Given the description of an element on the screen output the (x, y) to click on. 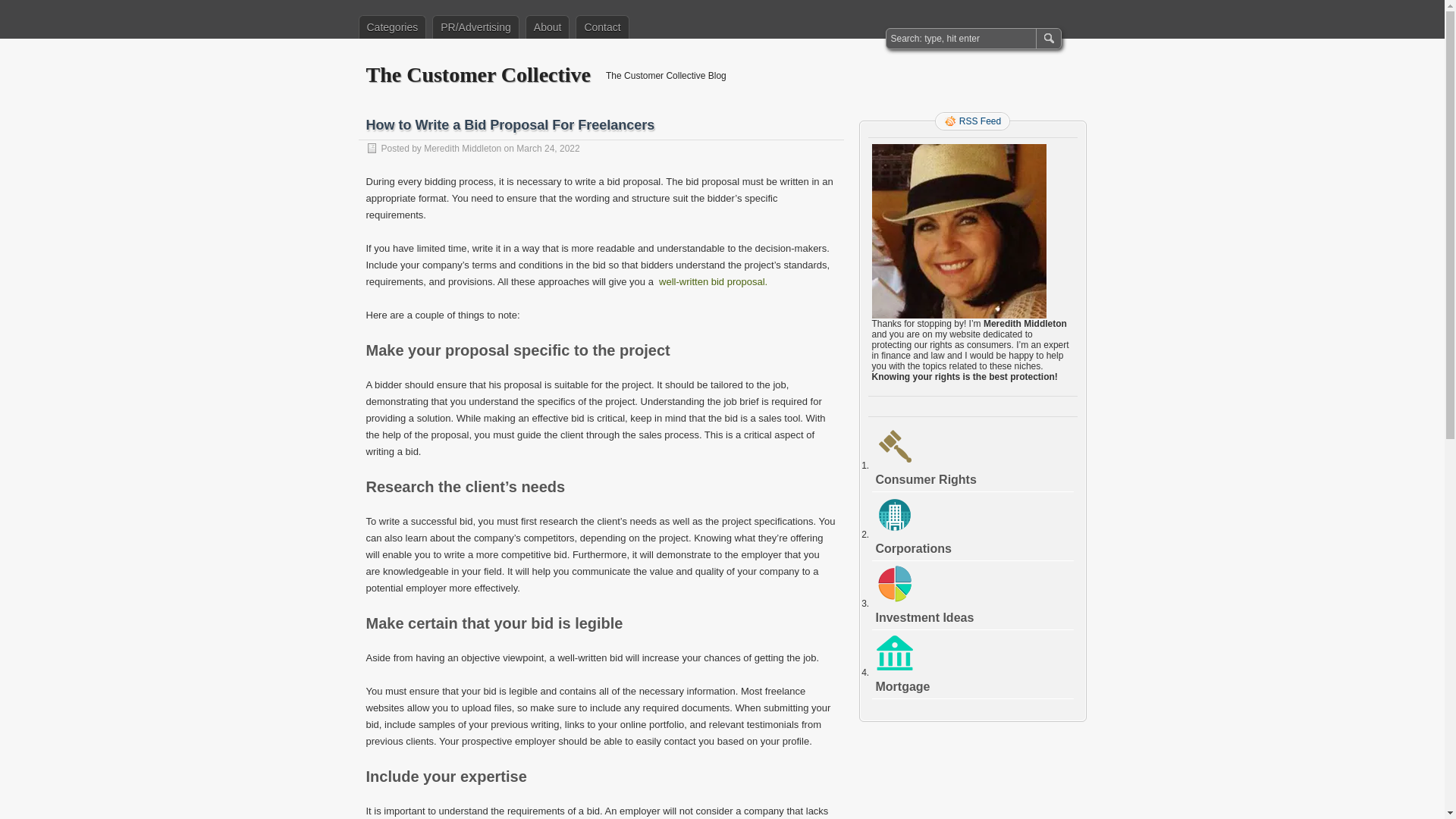
SEARCH (1047, 38)
SEARCH (1047, 38)
well-written bid proposal. (713, 281)
RSS Feed (972, 120)
Meredith Middleton (461, 148)
RSS Feed (972, 120)
View all posts by Meredith Middleton (461, 148)
Categories (392, 26)
The Customer Collective (478, 74)
About (547, 26)
Contact (601, 26)
Search: type, hit enter (962, 38)
Consumer Rights (925, 479)
